Given the description of an element on the screen output the (x, y) to click on. 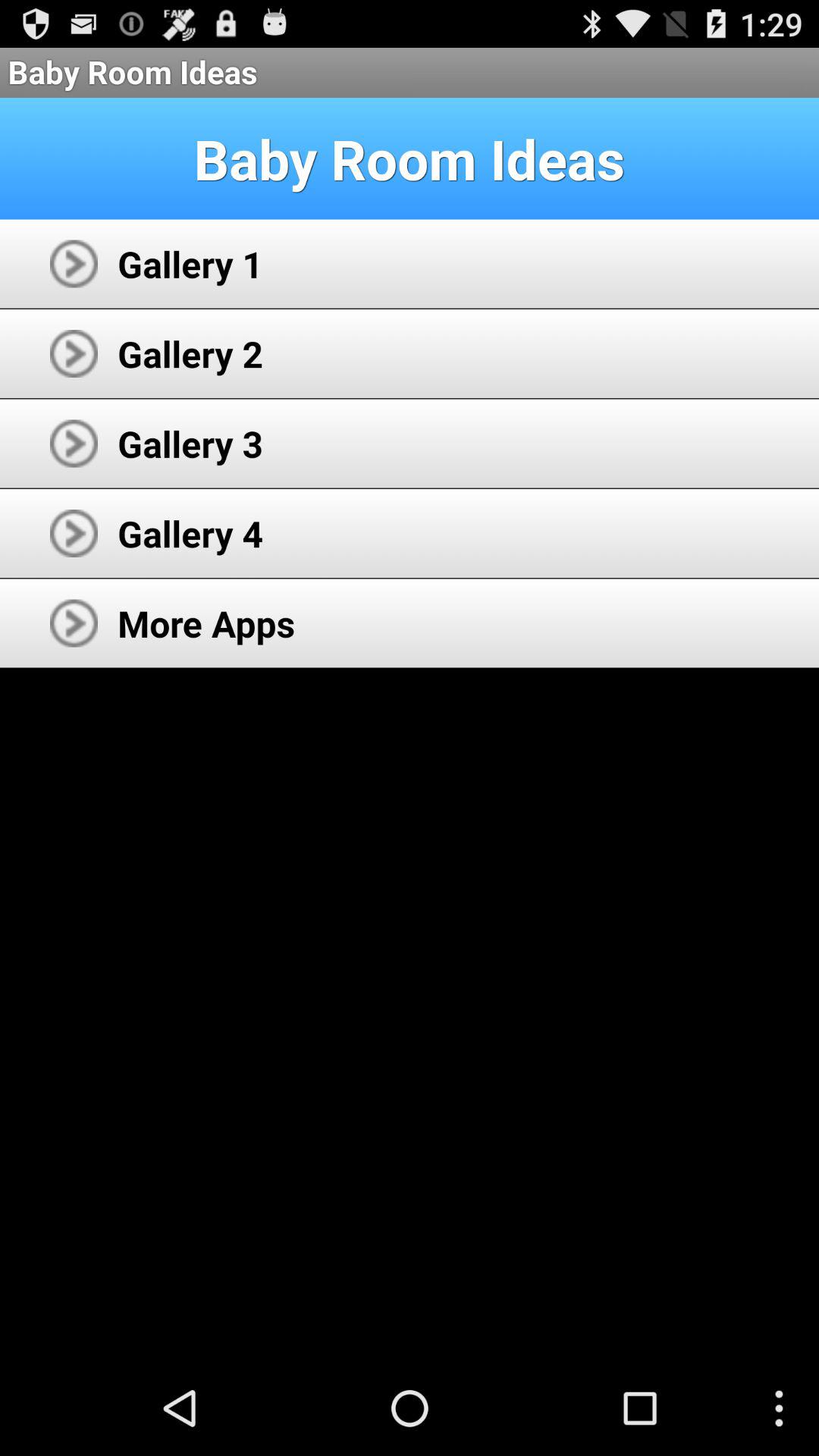
flip until more apps icon (206, 622)
